Given the description of an element on the screen output the (x, y) to click on. 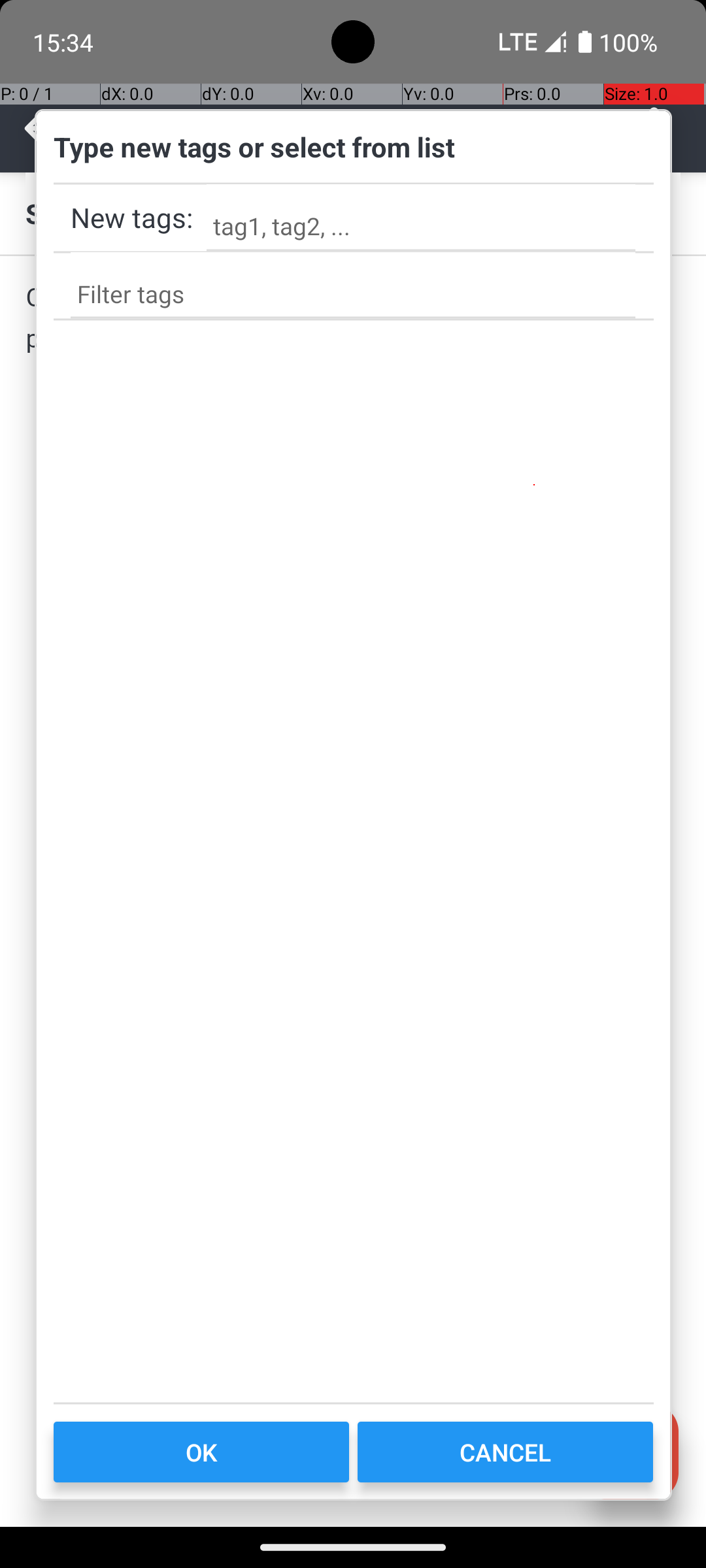
Type new tags or select from list Element type: android.widget.TextView (353, 156)
New tags: Element type: android.widget.TextView (131, 216)
tag1, tag2, ... Element type: android.widget.EditText (420, 217)
Filter tags Element type: android.widget.EditText (352, 285)
